Given the description of an element on the screen output the (x, y) to click on. 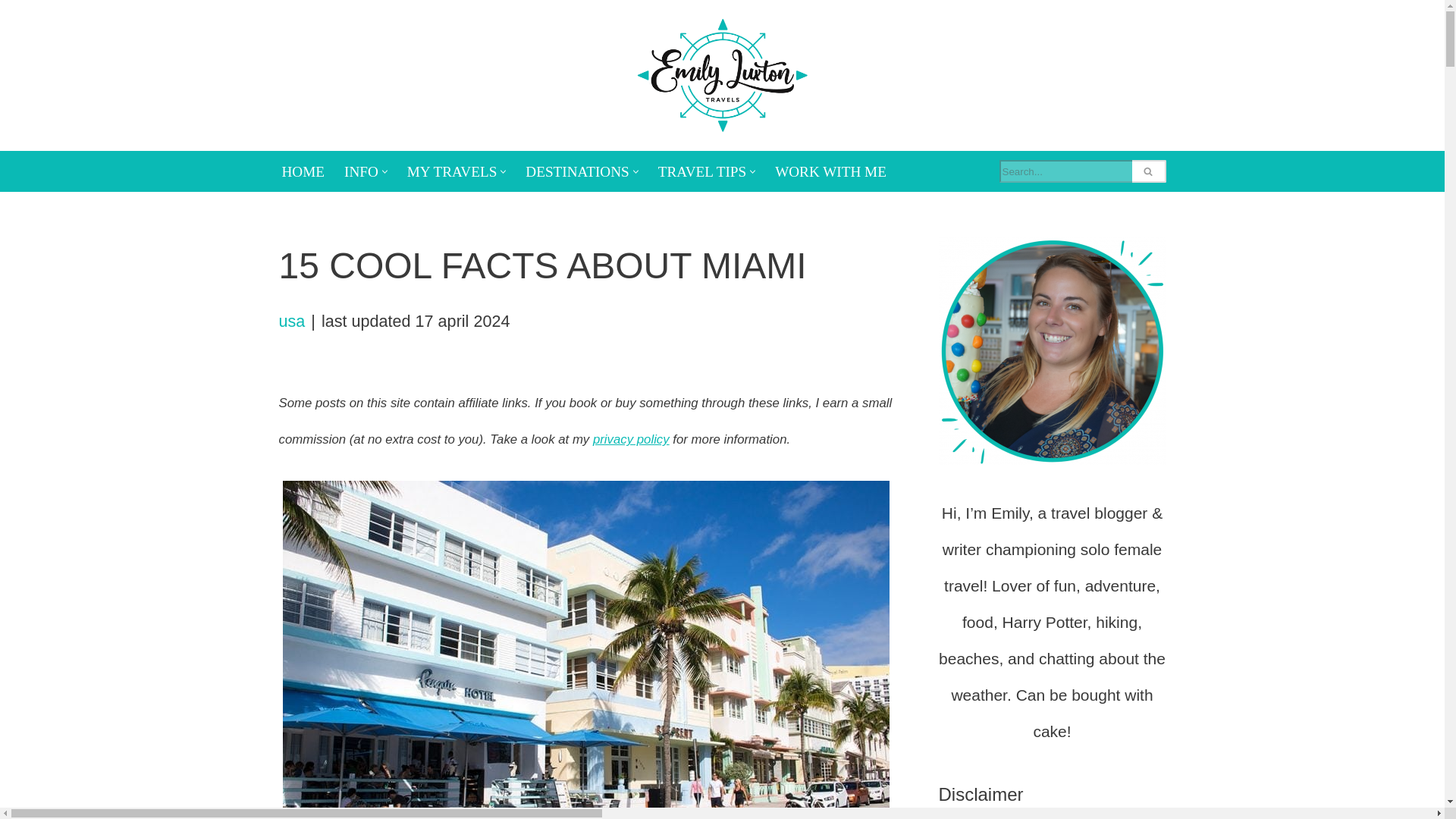
TRAVEL TIPS (701, 171)
MY TRAVELS (452, 171)
DESTINATIONS (576, 171)
WORK WITH ME (830, 171)
Skip to content (11, 31)
HOME (303, 171)
INFO (360, 171)
